Given the description of an element on the screen output the (x, y) to click on. 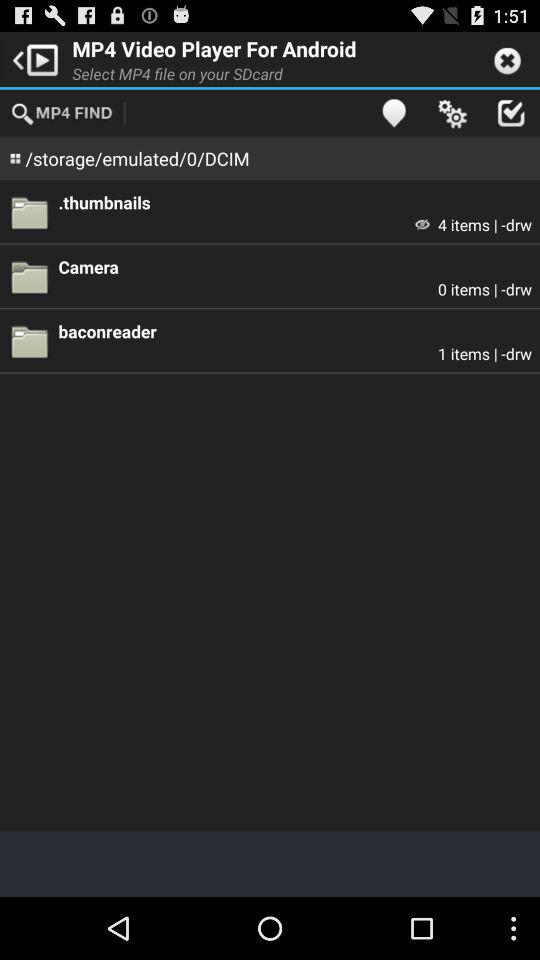
select the icon above the storage emulated 0 icon (63, 112)
